Given the description of an element on the screen output the (x, y) to click on. 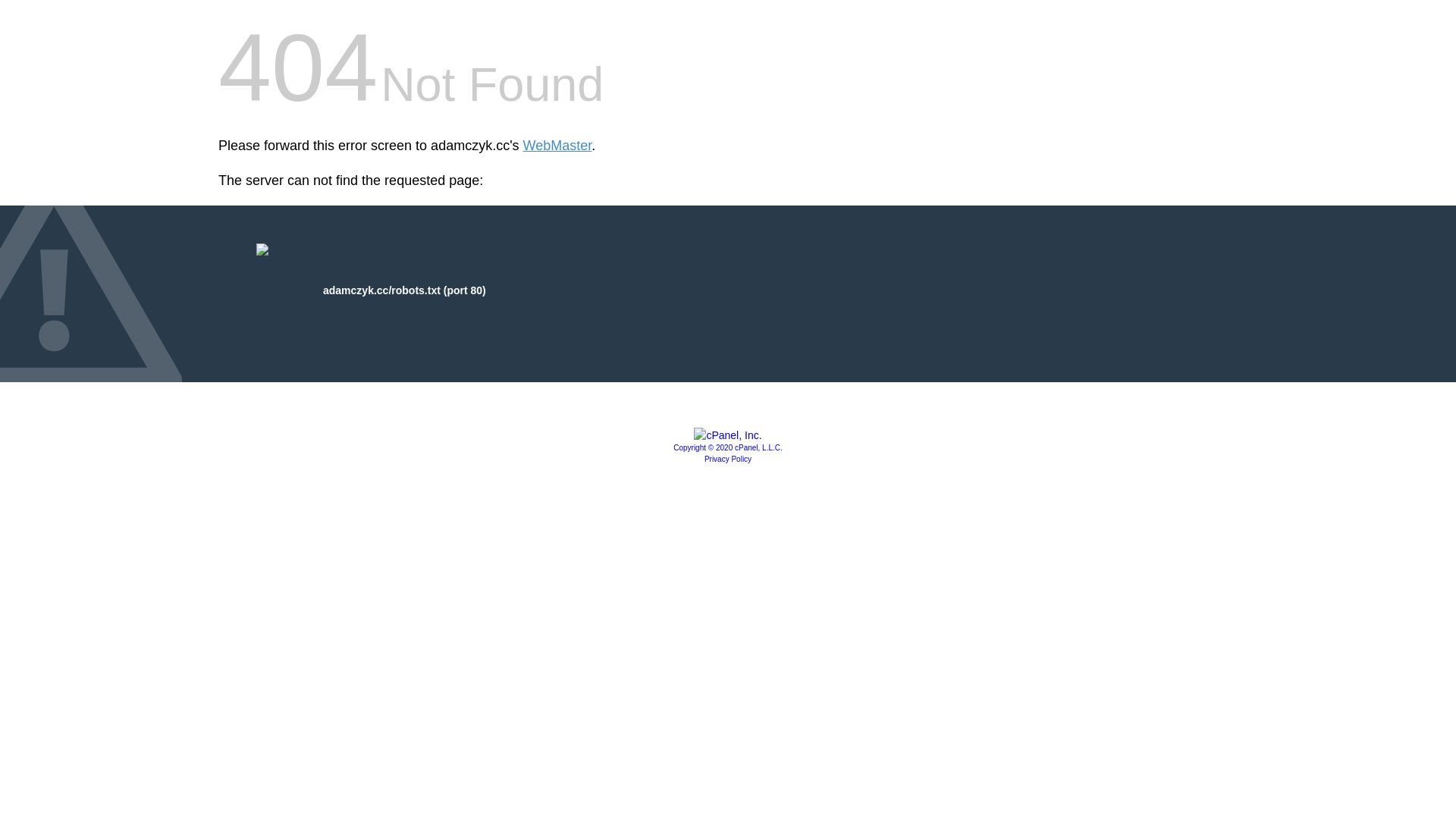
cPanel, Inc. Element type: hover (727, 435)
WebMaster Element type: text (557, 145)
Privacy Policy Element type: text (727, 459)
